Given the description of an element on the screen output the (x, y) to click on. 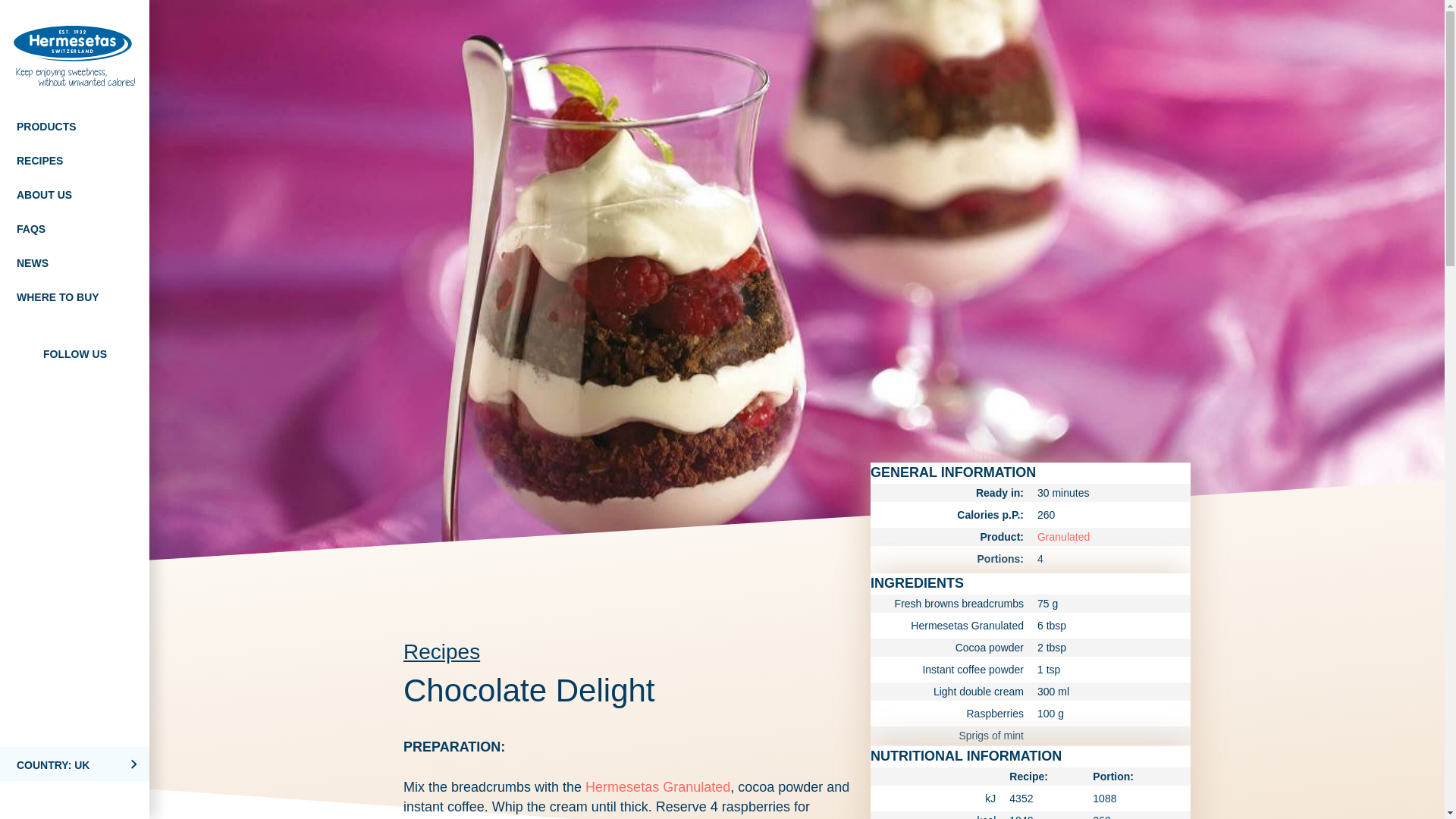
WHERE TO BUY (74, 295)
Hermesetas Granulated (657, 786)
ABOUT US (74, 193)
COUNTRY: UK (74, 763)
Recipes (441, 651)
FOLLOW US (74, 352)
NEWS (74, 261)
Granulated (1062, 536)
RECIPES (74, 159)
FAQS (74, 227)
PRODUCTS (74, 125)
